Given the description of an element on the screen output the (x, y) to click on. 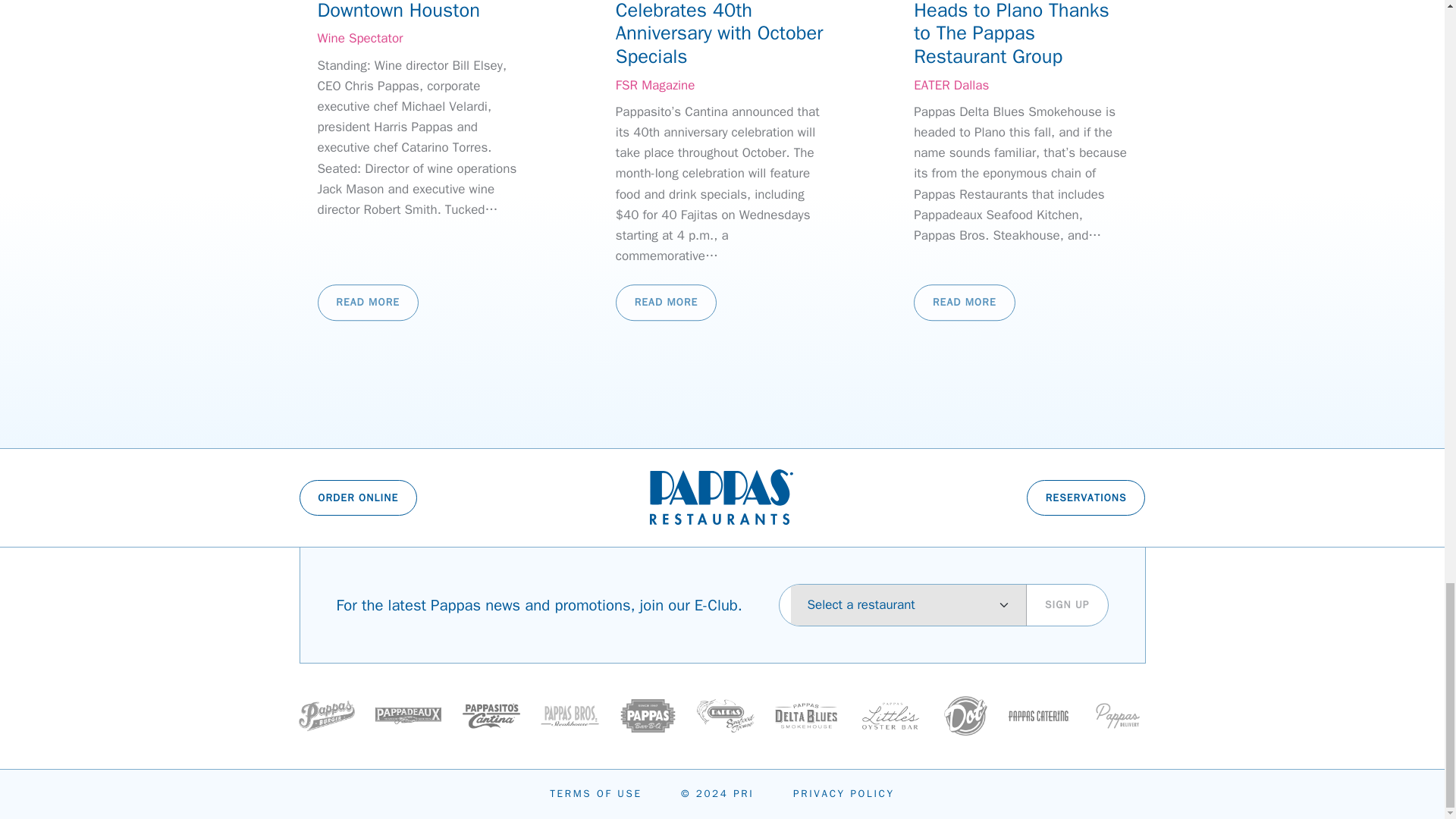
ORDER ONLINE (357, 497)
READ MORE (367, 303)
TERMS OF USE (596, 793)
RESERVATIONS (1085, 497)
READ MORE (665, 303)
SIGN UP (1066, 604)
READ MORE (964, 303)
